Given the description of an element on the screen output the (x, y) to click on. 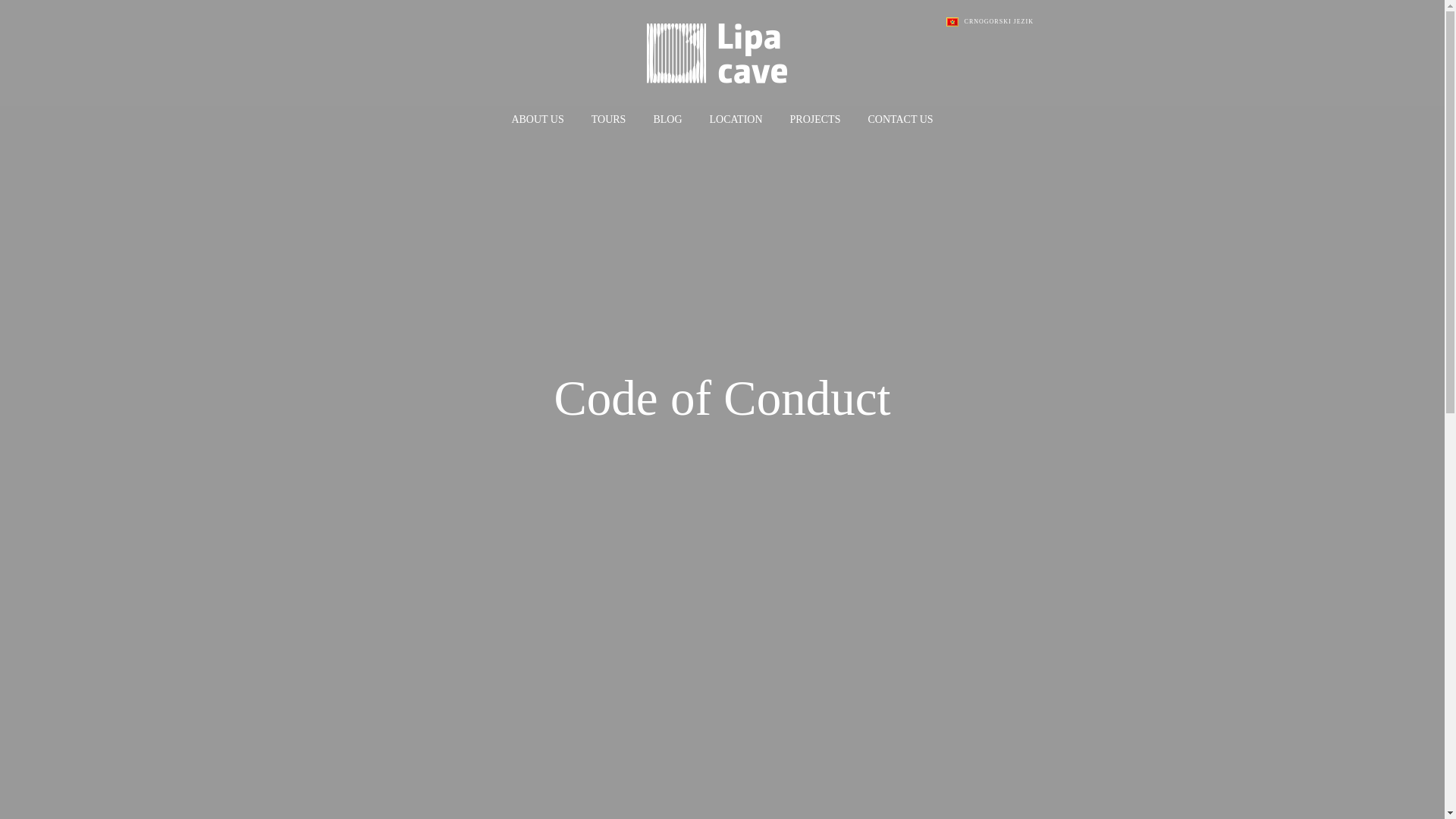
TOURS (608, 119)
CONTACT US (900, 119)
CRNOGORSKI JEZIK (989, 21)
ABOUT US (537, 119)
PROJECTS (815, 119)
BLOG (666, 119)
LOCATION (736, 119)
